Given the description of an element on the screen output the (x, y) to click on. 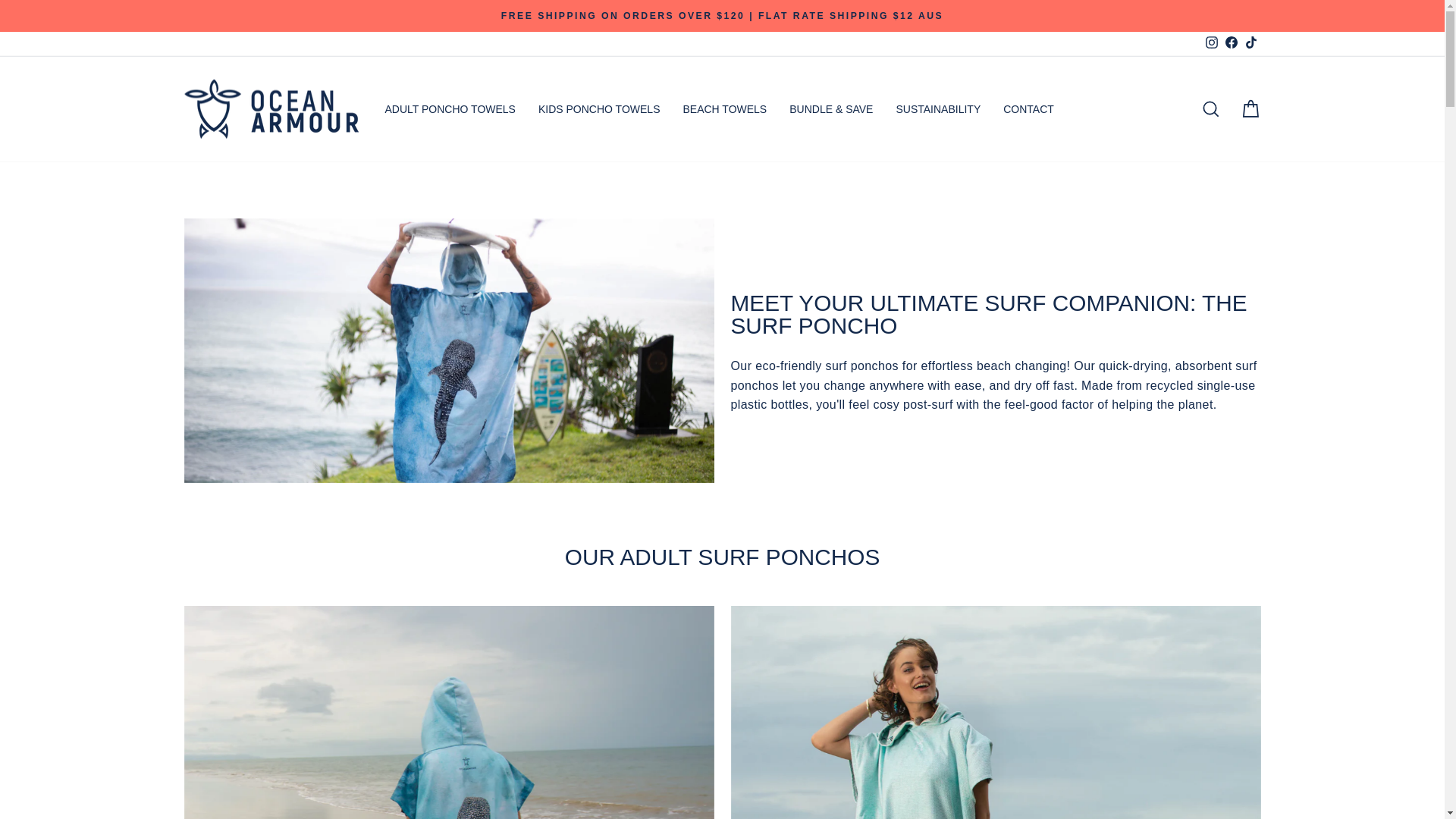
CART (1249, 108)
KIDS PONCHO TOWELS (599, 108)
SUSTAINABILITY (937, 108)
CONTACT (1028, 108)
ADULT PONCHO TOWELS (448, 108)
SEARCH (1210, 108)
BEACH TOWELS (724, 108)
